Given the description of an element on the screen output the (x, y) to click on. 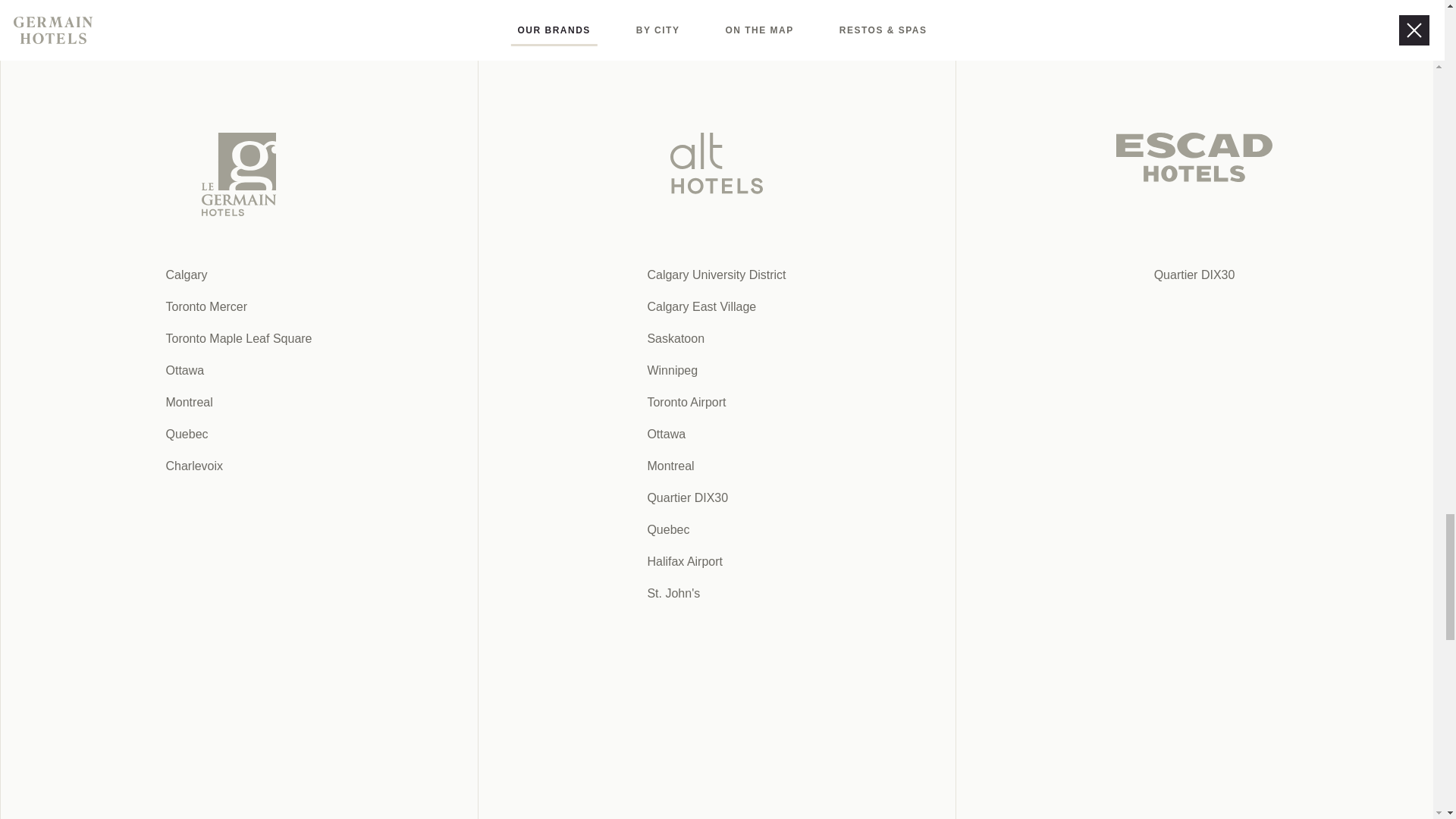
Activities (363, 816)
Saskatoon (296, 816)
Back to the blog (558, 210)
Read more (498, 817)
